Given the description of an element on the screen output the (x, y) to click on. 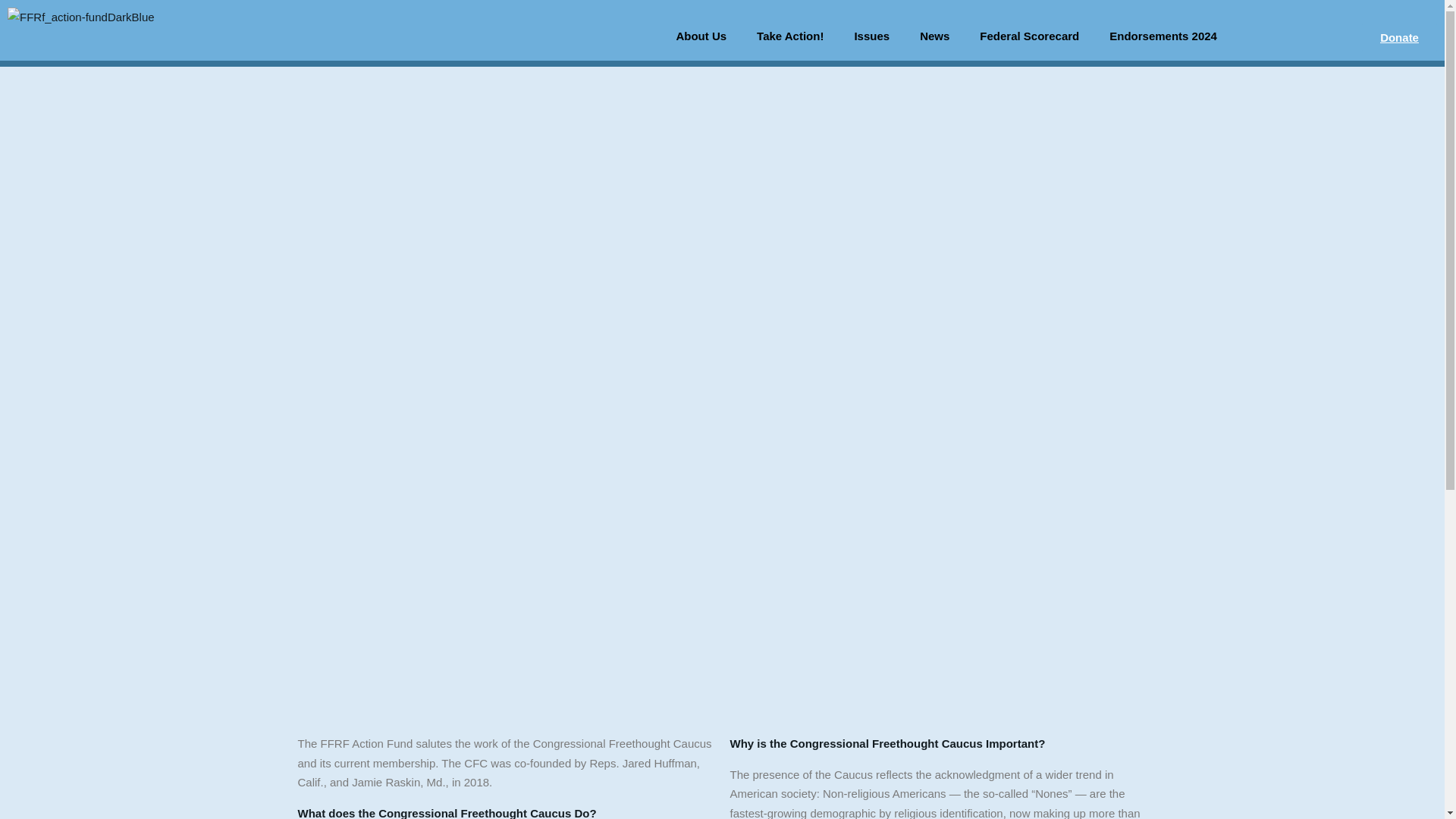
Endorsements 2024 (1162, 36)
Issues (871, 36)
About Us (701, 36)
Take Action! (789, 36)
Federal Scorecard (1028, 36)
